Given the description of an element on the screen output the (x, y) to click on. 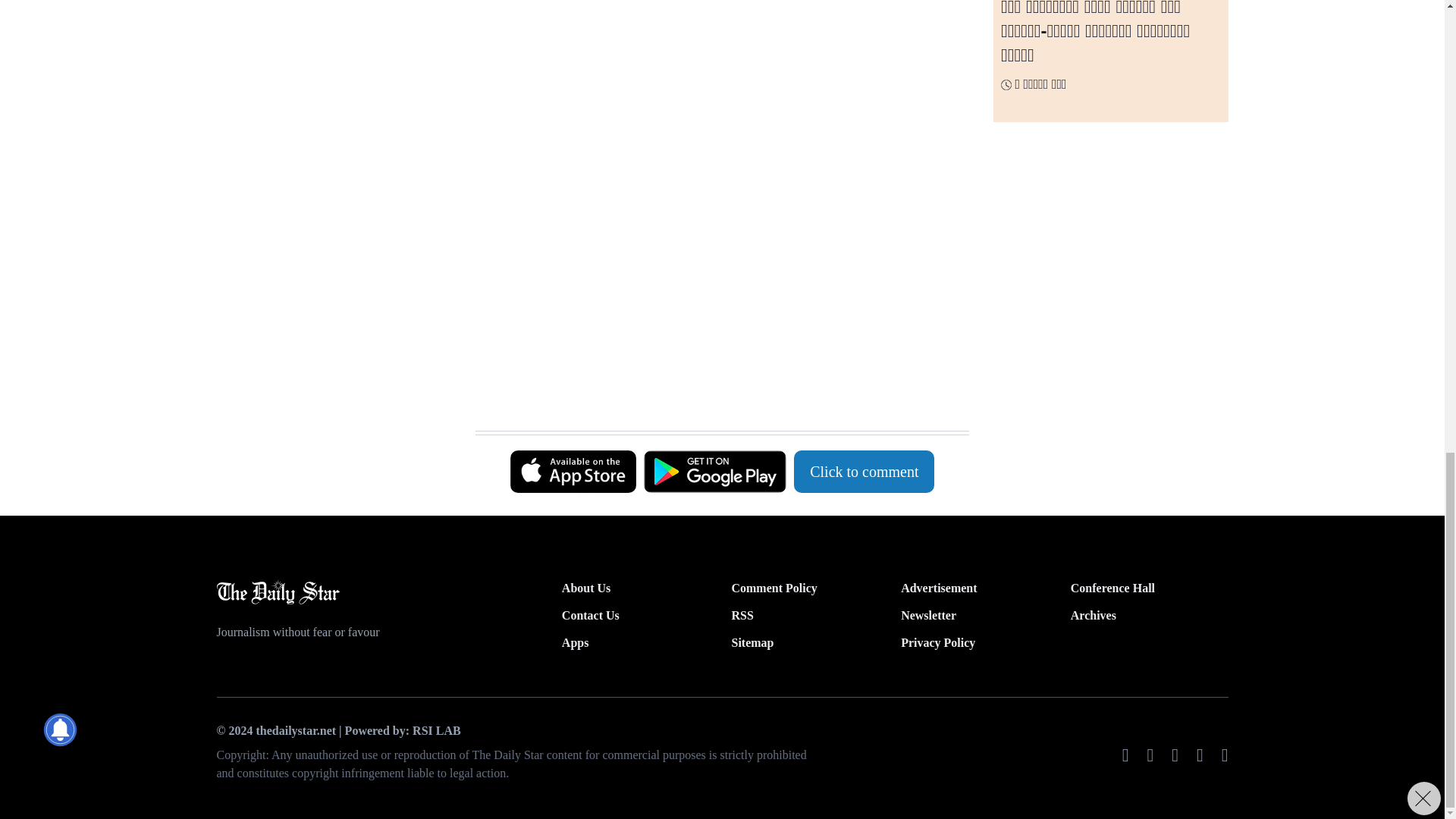
3rd party ad content (713, 252)
3rd party ad content (713, 71)
3rd party ad content (714, 392)
